Given the description of an element on the screen output the (x, y) to click on. 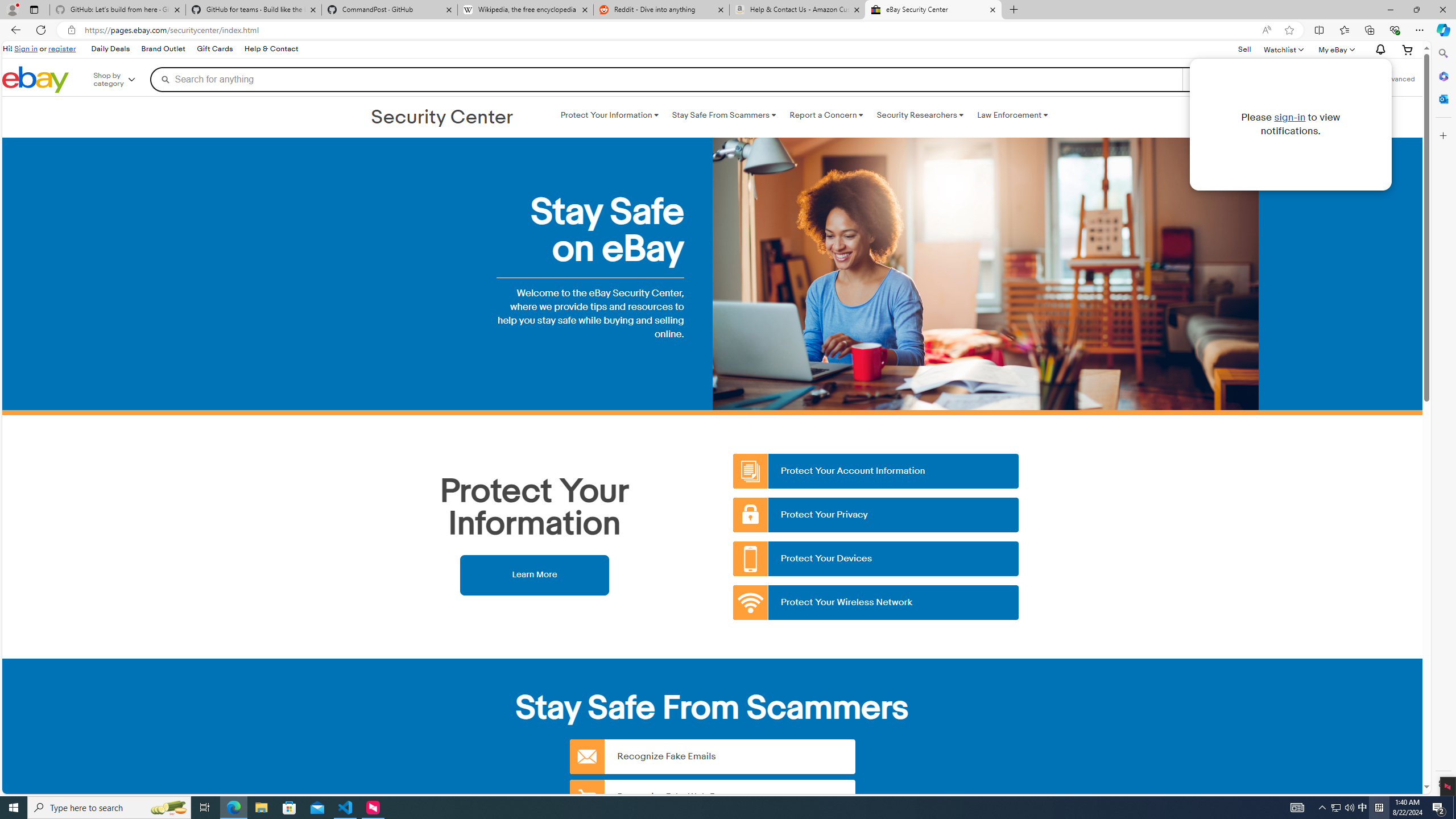
Daily Deals (109, 49)
Help & Contact (270, 49)
Daily Deals (109, 49)
Search for anything (665, 78)
WatchlistExpand Watch List (1282, 49)
eBay Home (35, 79)
Please sign-in to view notifications. (1290, 124)
Security Researchers  (919, 115)
eBay Home (35, 79)
Protect Your Privacy (876, 514)
